Given the description of an element on the screen output the (x, y) to click on. 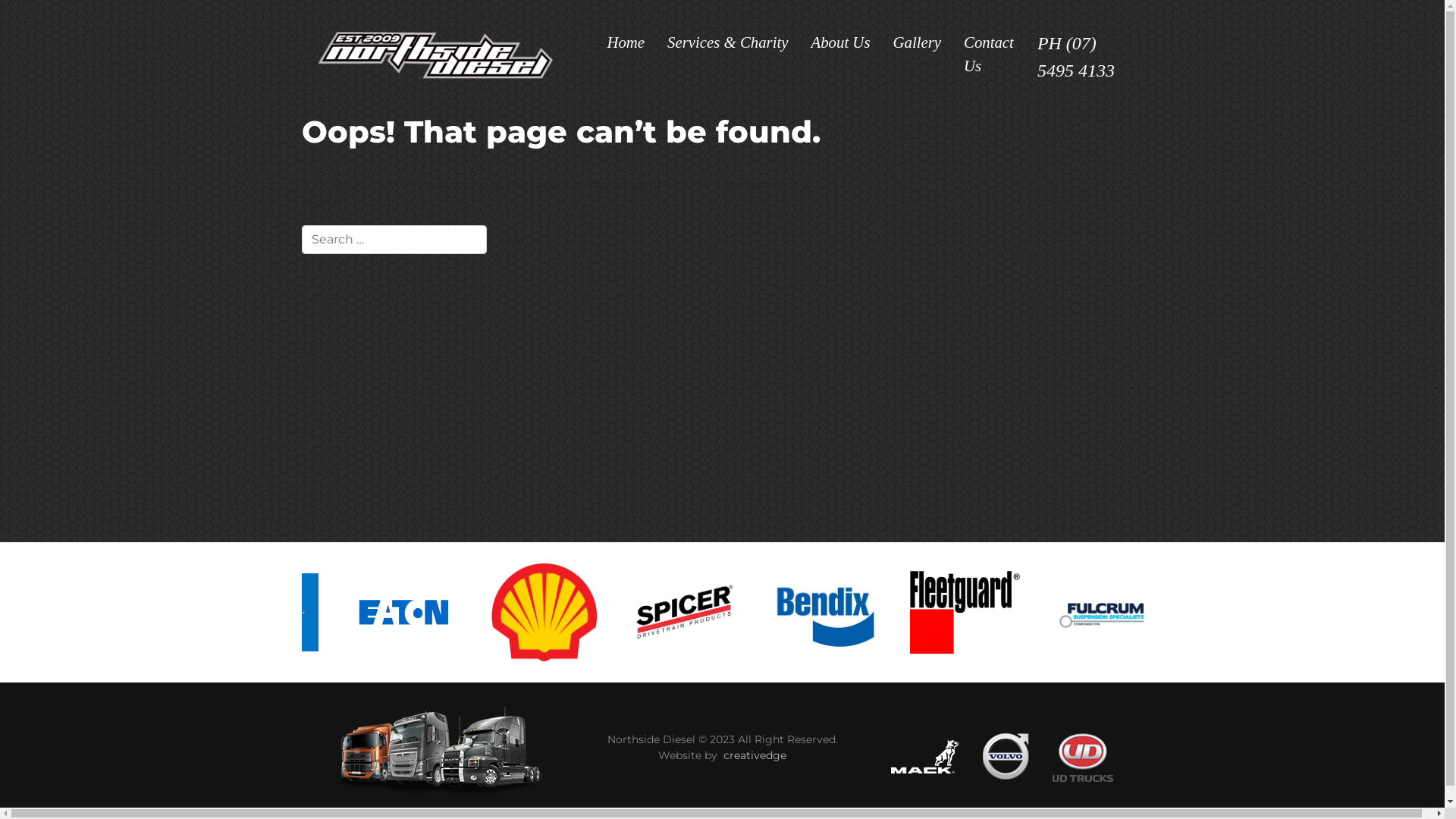
bendix Element type: hover (922, 612)
Eaton Element type: hover (511, 612)
Spicer Element type: hover (790, 611)
Contact Us Element type: text (988, 53)
About Us Element type: text (839, 41)
Services & Charity Element type: text (727, 41)
PH (07) 5495 4133 Element type: text (1083, 56)
Shell Element type: hover (652, 611)
Gallery Element type: text (916, 41)
Donaldson Element type: hover (371, 611)
fleet guard Element type: hover (1057, 611)
Meritor Element type: hover (230, 612)
creativedge Element type: text (754, 755)
Home Element type: text (625, 41)
Search for: Element type: hover (393, 239)
Fulcrum Element type: hover (1182, 611)
Search Element type: text (520, 239)
